Given the description of an element on the screen output the (x, y) to click on. 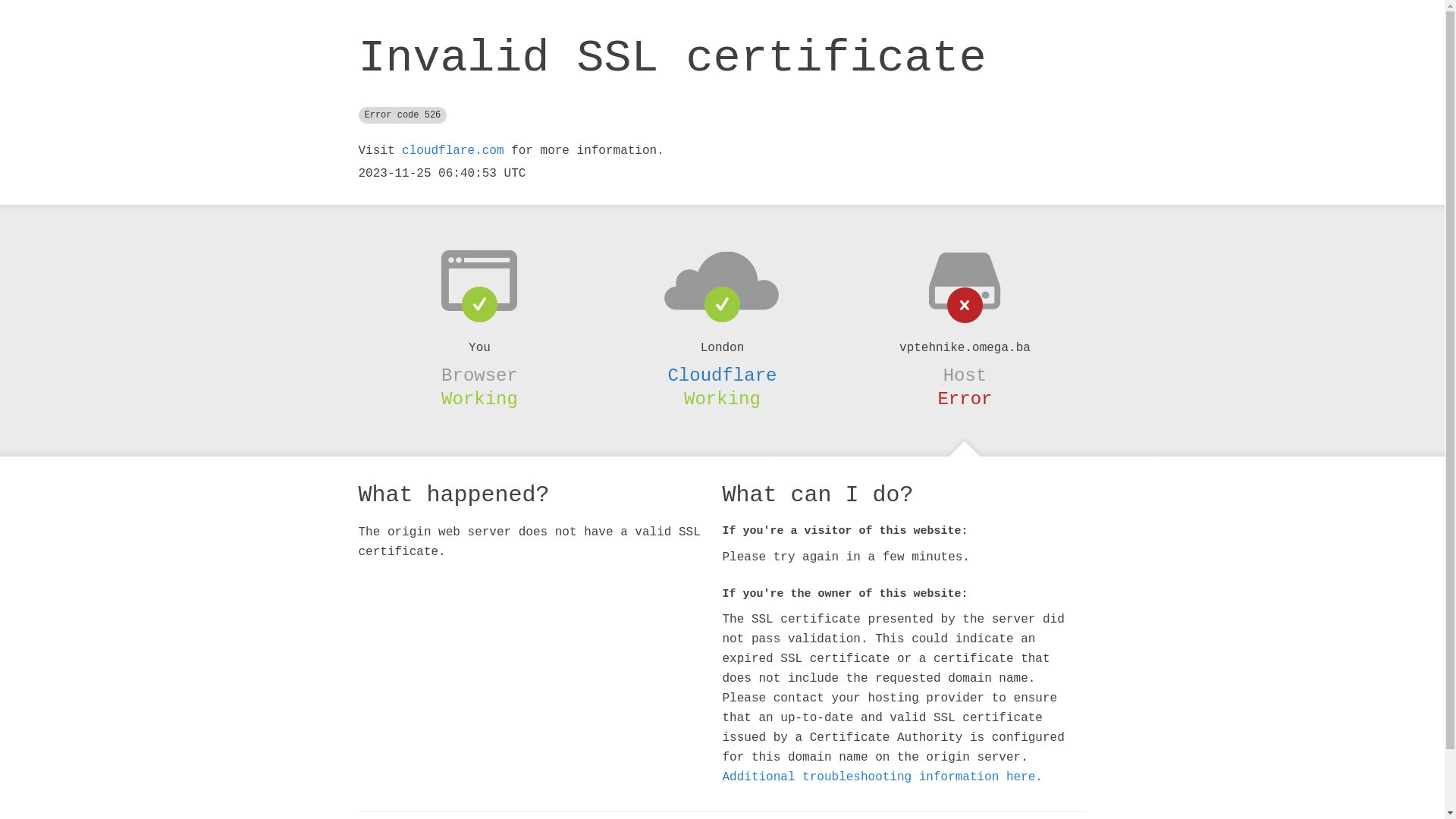
Additional troubleshooting information here. Element type: text (881, 777)
cloudflare.com Element type: text (452, 150)
Cloudflare Element type: text (721, 375)
